Given the description of an element on the screen output the (x, y) to click on. 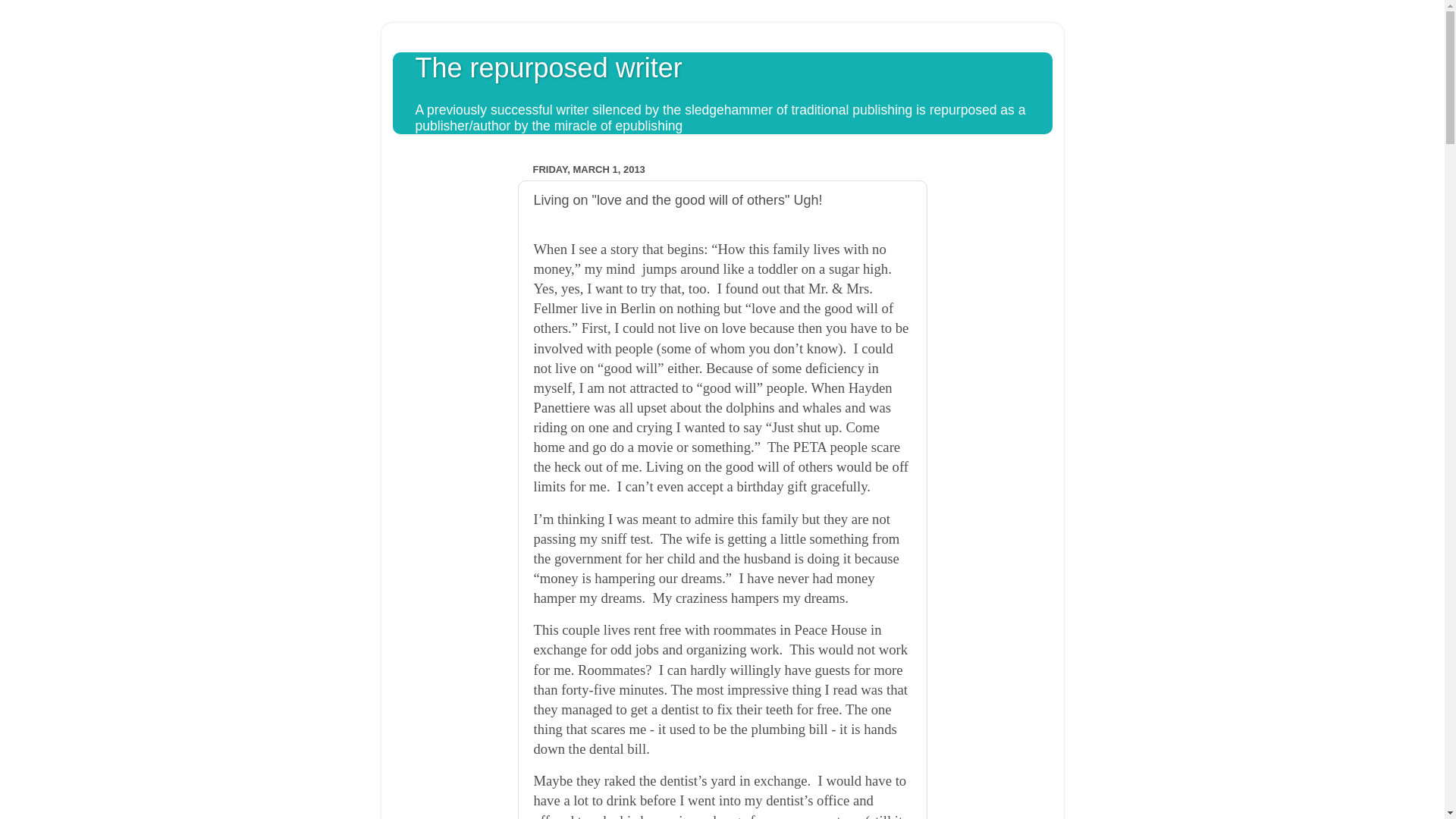
The repurposed writer (548, 67)
